Given the description of an element on the screen output the (x, y) to click on. 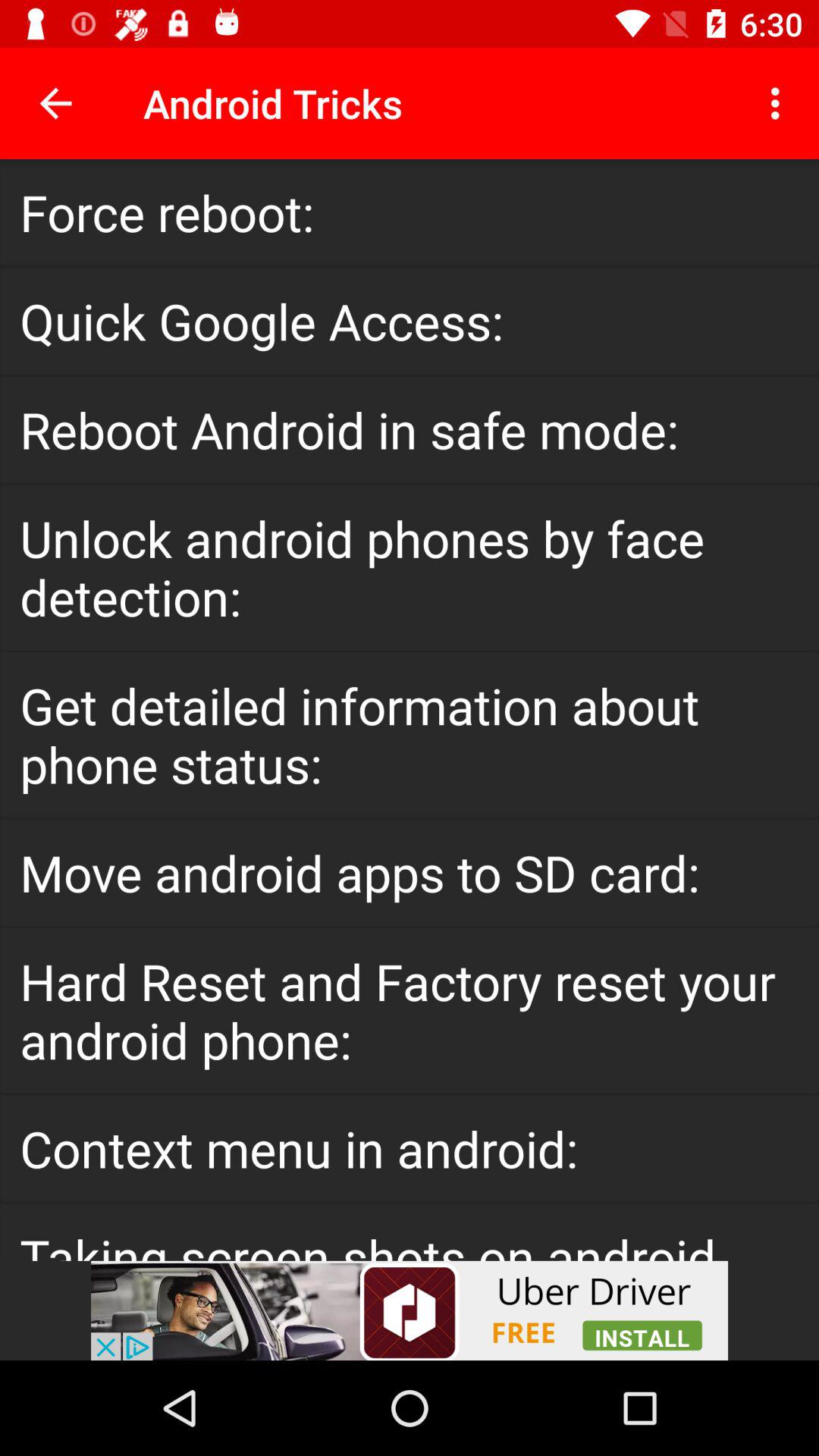
click advertisement (409, 1310)
